Given the description of an element on the screen output the (x, y) to click on. 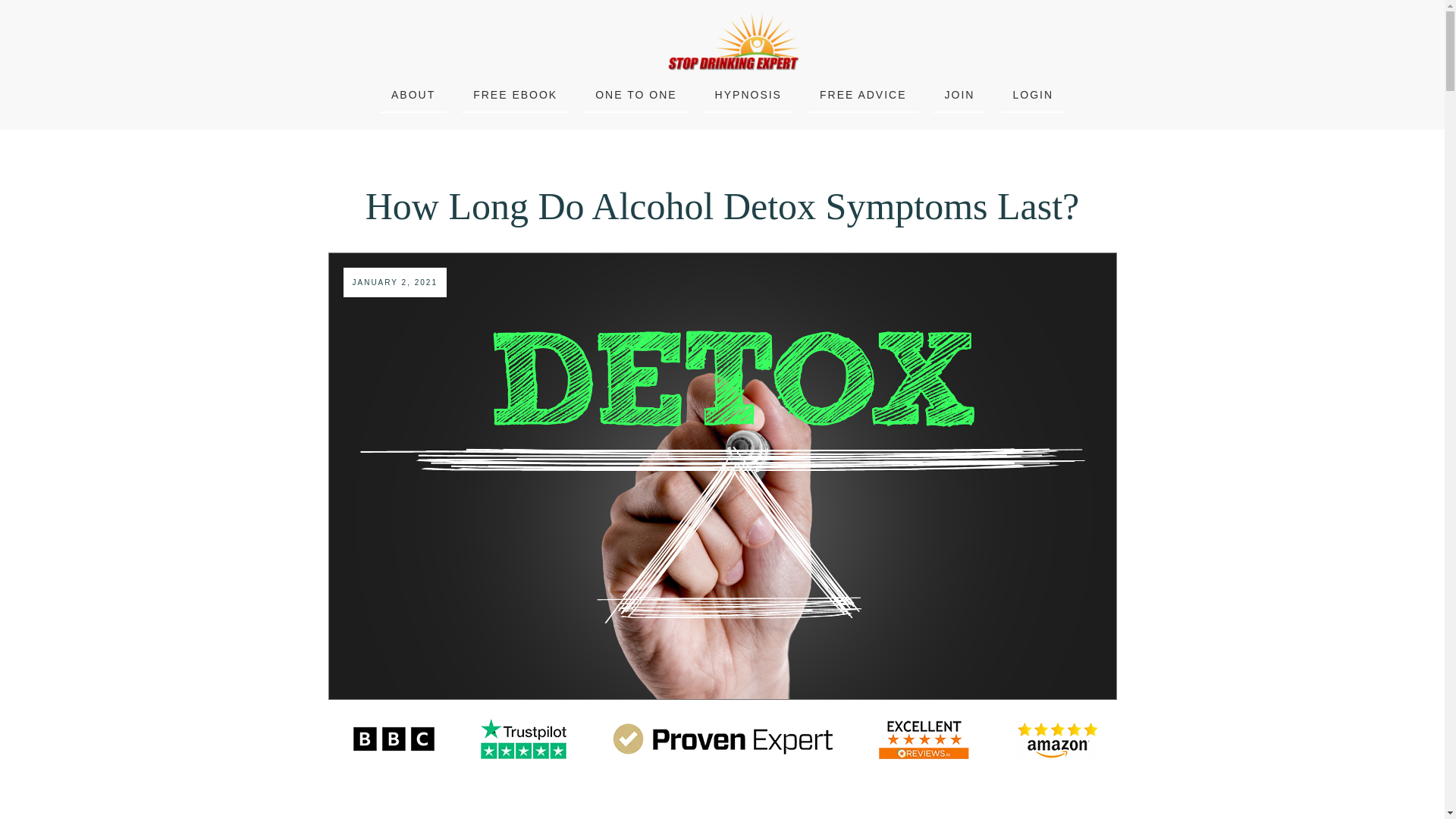
FREE ADVICE (863, 94)
ONE TO ONE (636, 94)
JOIN (959, 94)
LOGIN (1031, 94)
How Long Do Alcohol Detox Symptoms Last? (722, 206)
Stop Drinking Expert Review (721, 738)
FREE EBOOK (515, 94)
ABOUT (413, 94)
How Long Do Alcohol Detox Symptoms Last? (722, 206)
HYPNOSIS (747, 94)
